Given the description of an element on the screen output the (x, y) to click on. 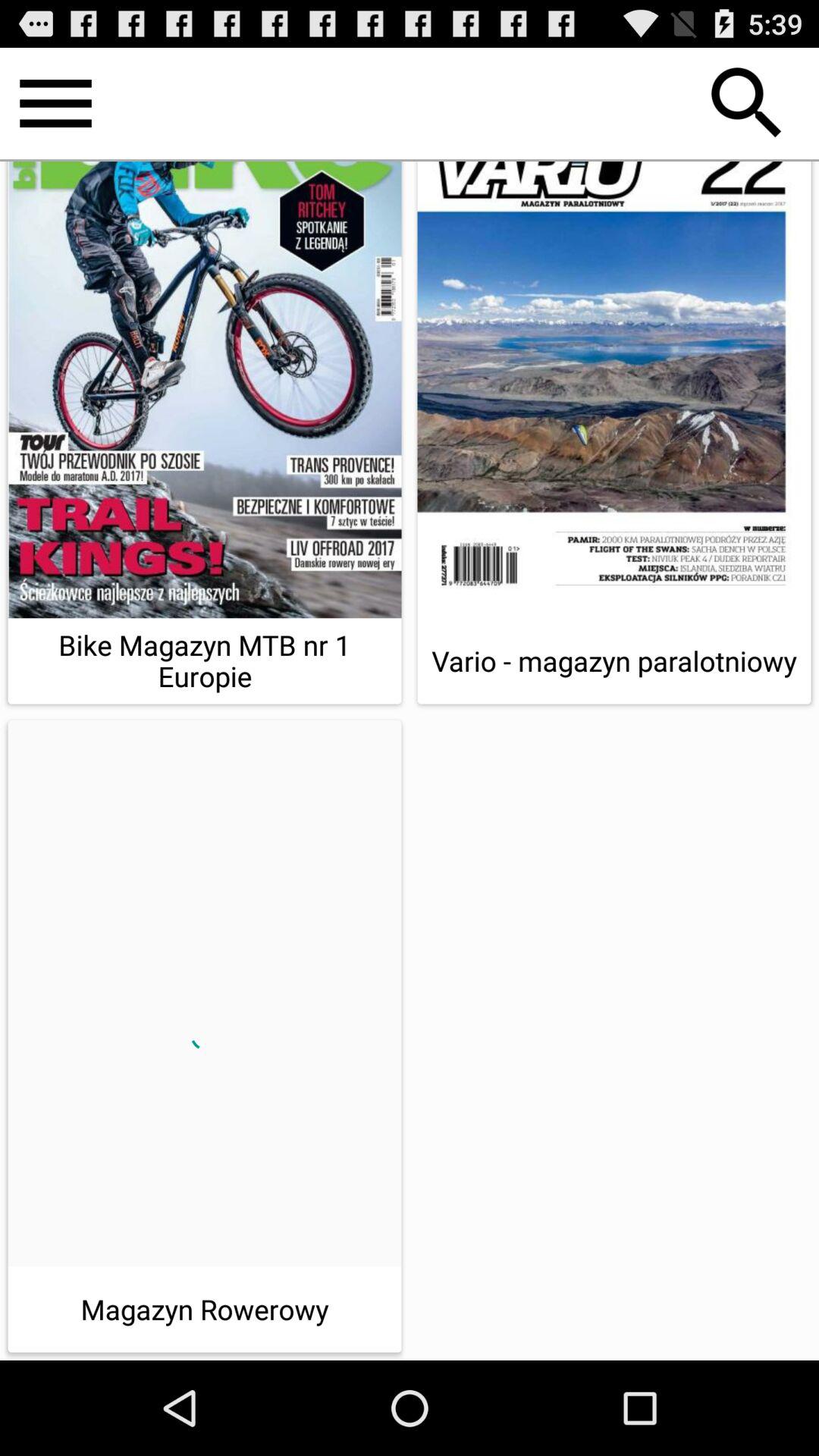
expand the menu (55, 103)
